Given the description of an element on the screen output the (x, y) to click on. 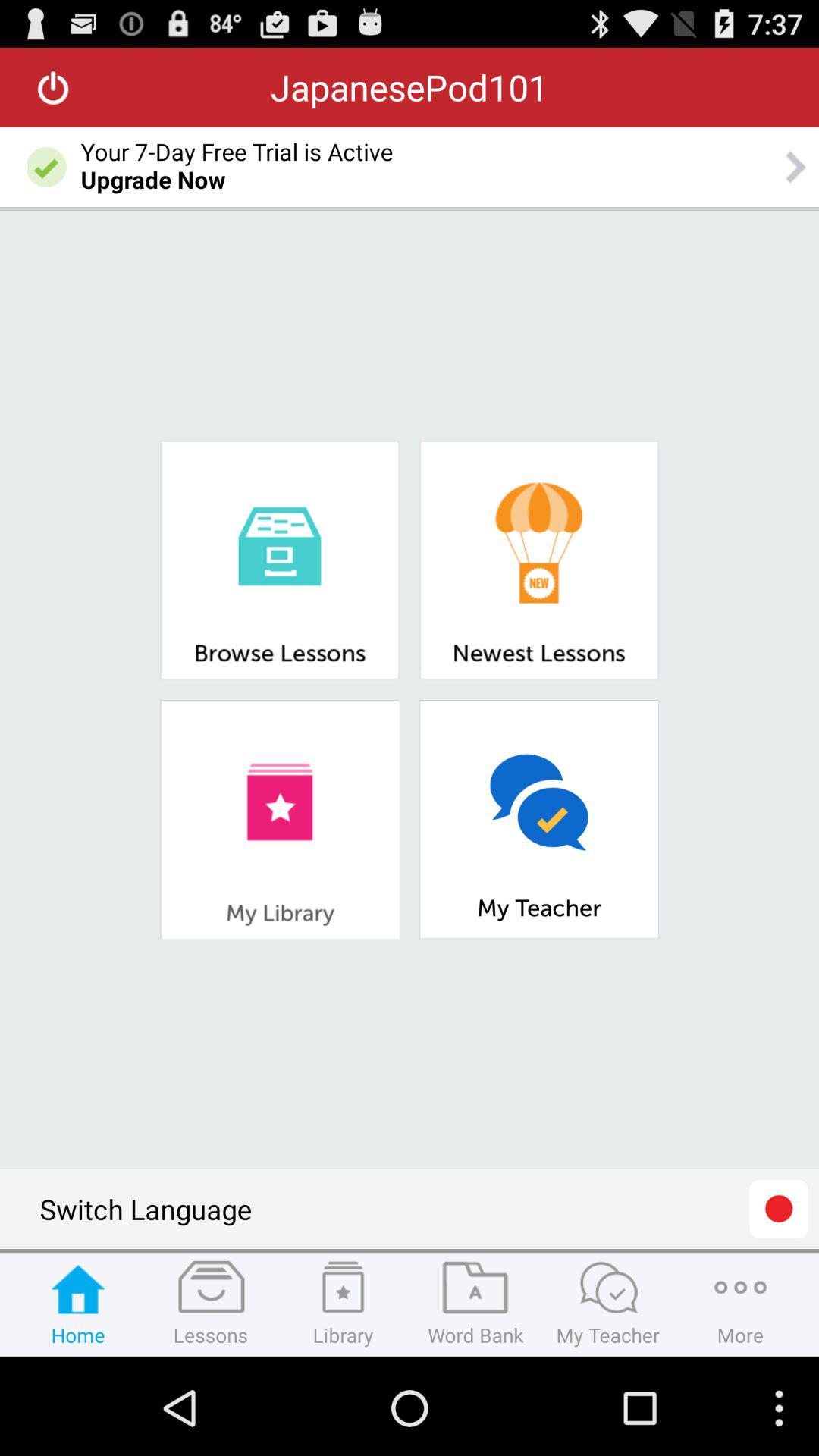
turn off the app above switch language (279, 819)
